Given the description of an element on the screen output the (x, y) to click on. 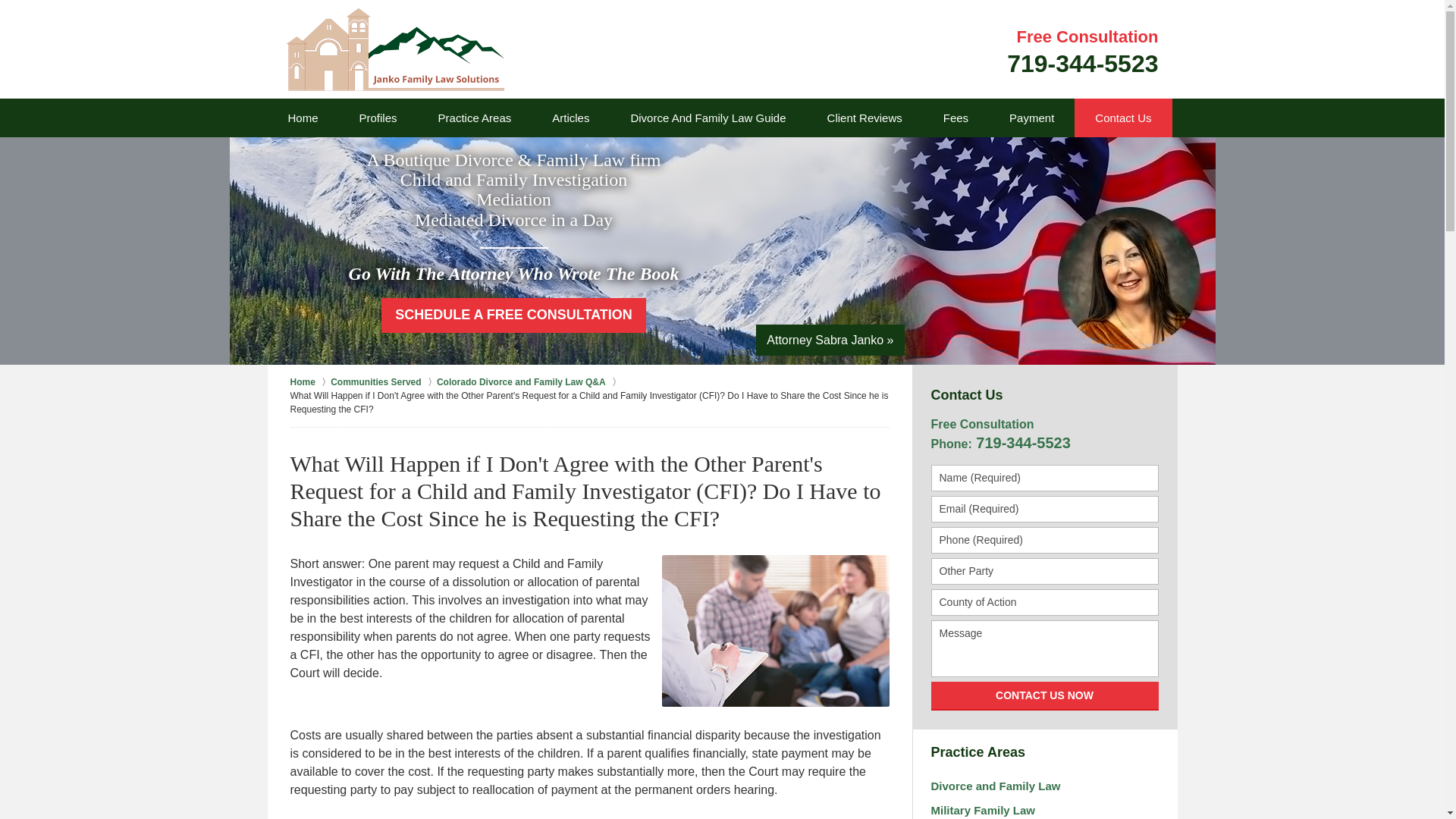
Communities Served (383, 382)
Client Reviews (864, 117)
Home (301, 117)
Janko Family Law Solutions Home (394, 49)
Contact Us (1123, 117)
Home (1082, 52)
Divorce And Family Law Guide (309, 382)
SCHEDULE A FREE CONSULTATION (708, 117)
Fees (513, 315)
